Given the description of an element on the screen output the (x, y) to click on. 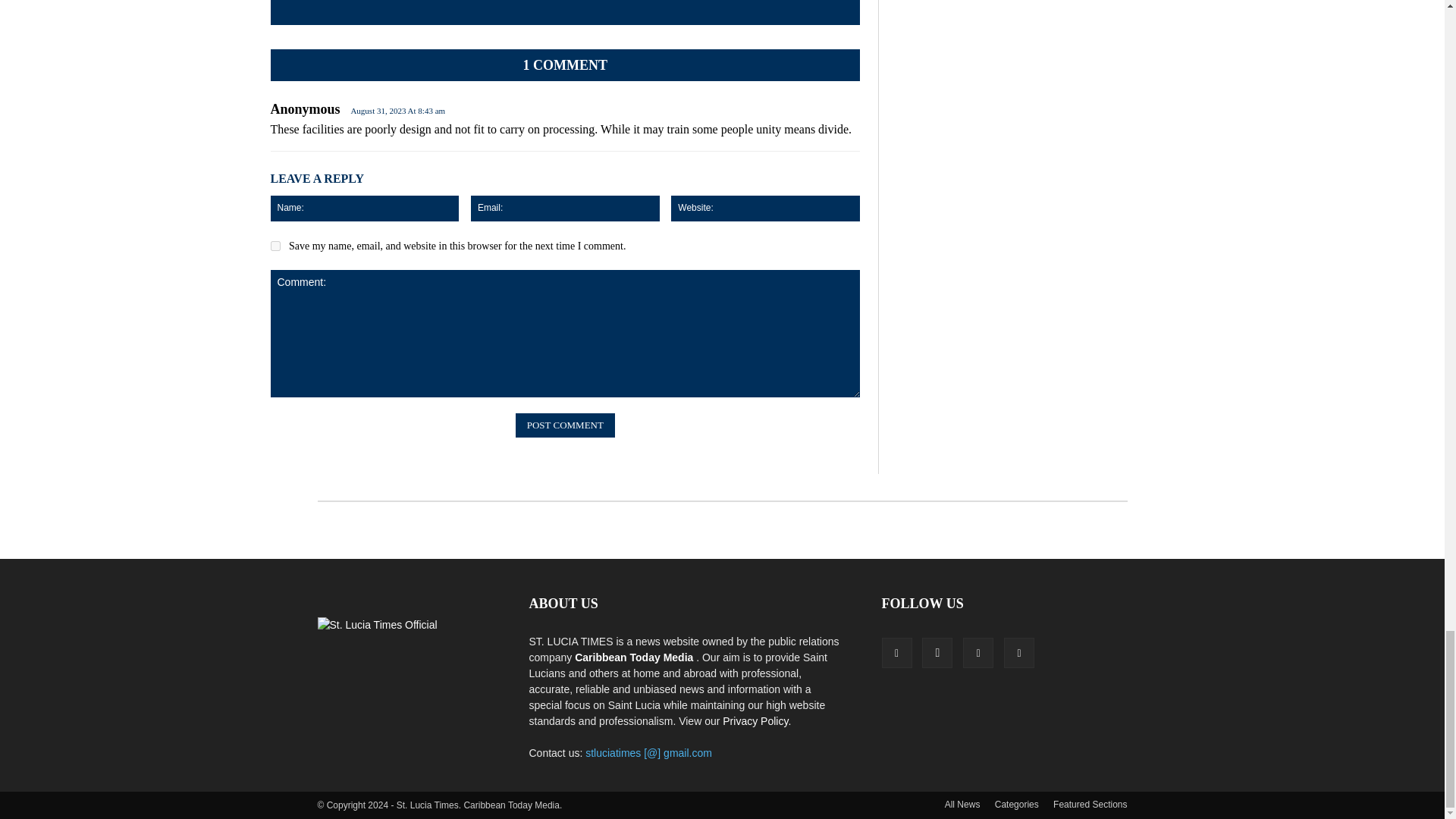
Post Comment (564, 425)
yes (274, 245)
